Given the description of an element on the screen output the (x, y) to click on. 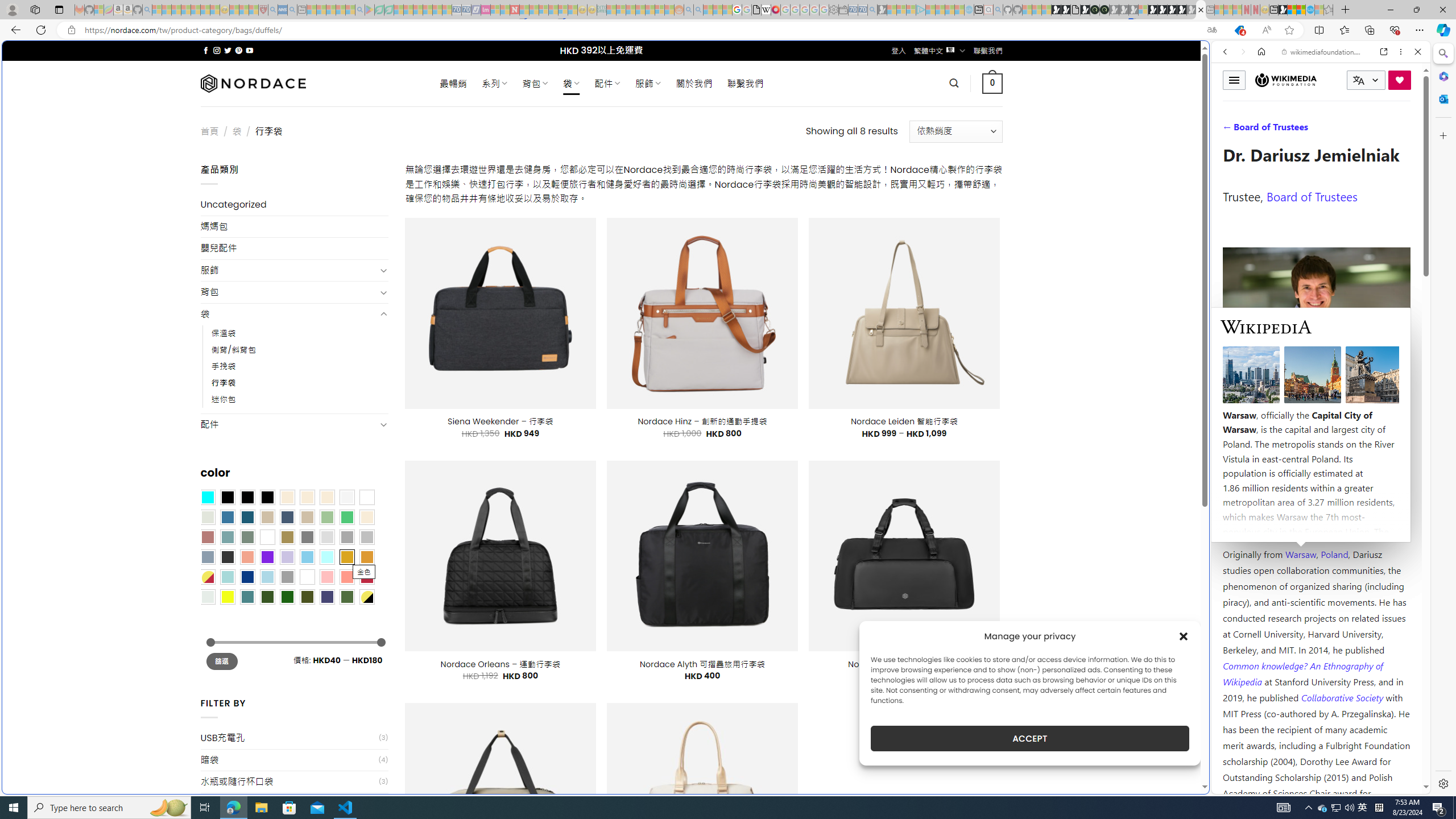
google - Search - Sleeping (359, 9)
ACCEPT (1029, 738)
Earth has six continents not seven, radical new study claims (1300, 9)
Sign in to your account - Sleeping (1143, 9)
Target page - Wikipedia (766, 9)
